Given the description of an element on the screen output the (x, y) to click on. 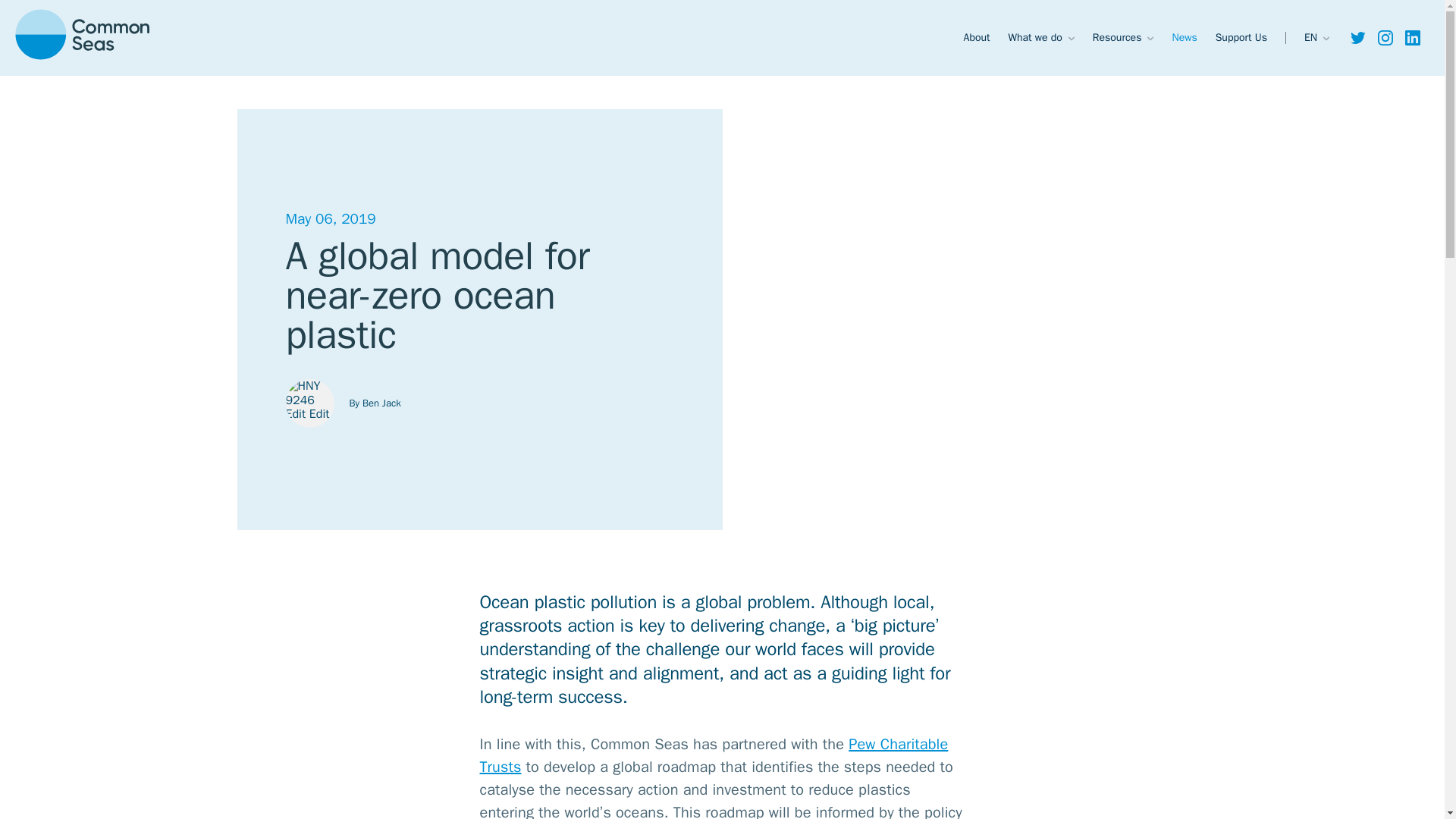
Common Seas on Instagram (1385, 37)
toggle submenu for What we do (1071, 37)
Pew Charitable Trusts (713, 755)
toggle submenu for Resources (1150, 37)
Common Seas on Twitter (1358, 37)
Common Seas on LinkedIn (1413, 37)
toggle submenu for language (1326, 37)
